Given the description of an element on the screen output the (x, y) to click on. 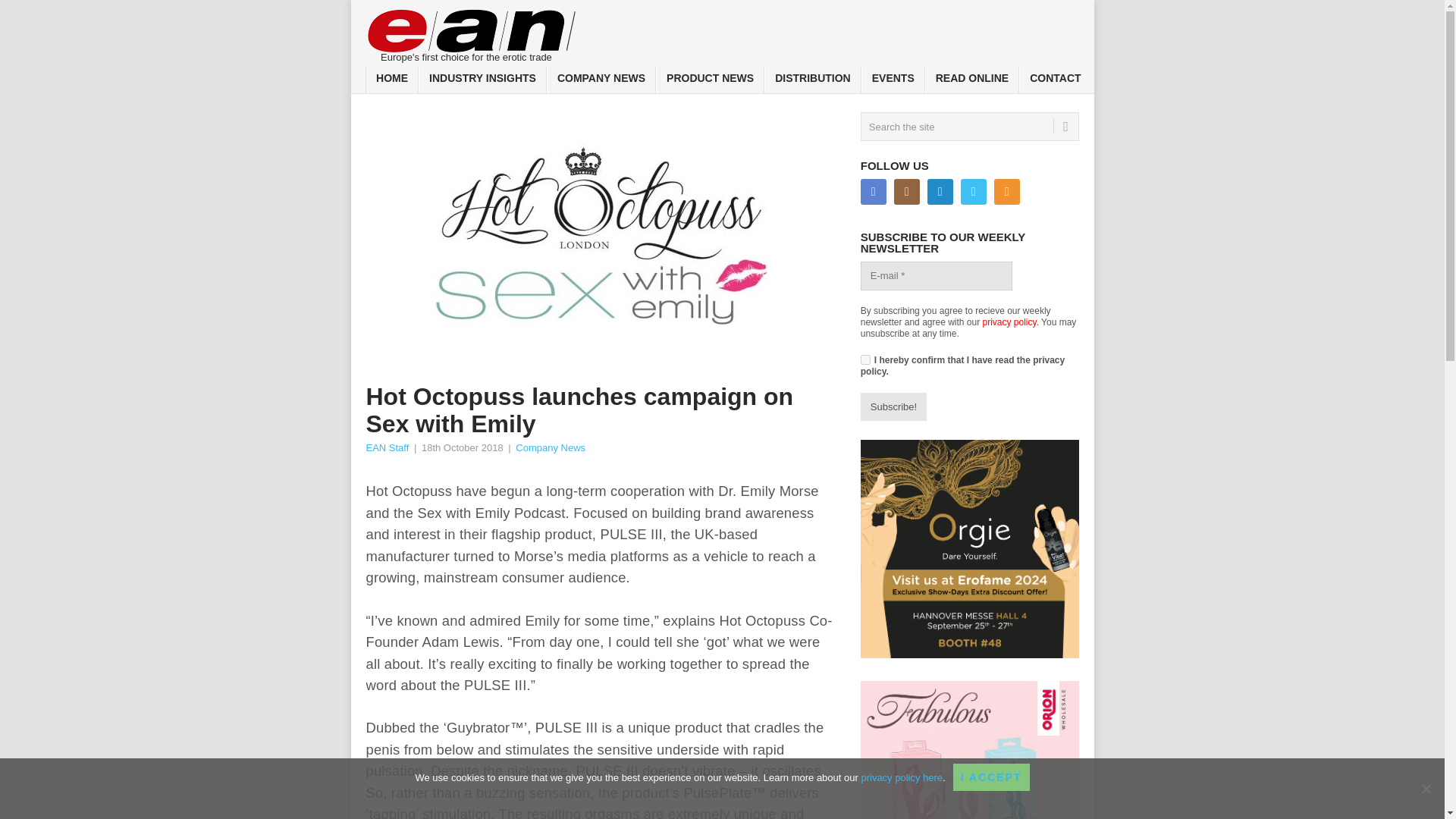
Posts by EAN Staff (387, 447)
EVENTS (892, 80)
READ ONLINE (971, 80)
Instagram (906, 191)
Search the site (969, 126)
COMPANY NEWS (601, 80)
CONTACT (1054, 80)
Europe's first choice for the erotic trade (472, 32)
DISTRIBUTION (812, 80)
PRODUCT NEWS (710, 80)
Company News (550, 447)
privacy policy (1009, 321)
INDUSTRY INSIGHTS (483, 80)
EAN Staff (387, 447)
LinkedIn (940, 191)
